Given the description of an element on the screen output the (x, y) to click on. 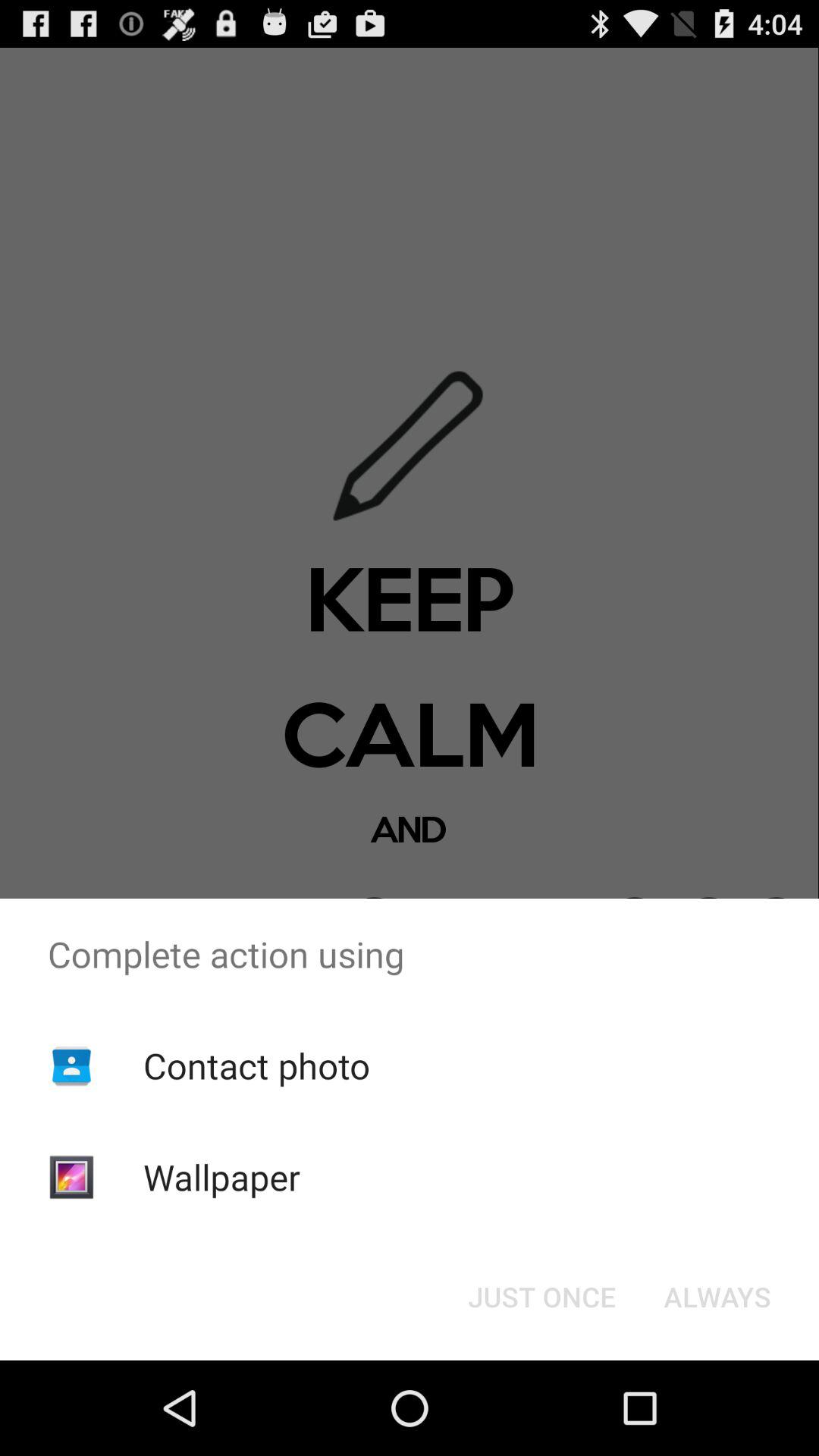
turn on the item below complete action using item (717, 1296)
